Given the description of an element on the screen output the (x, y) to click on. 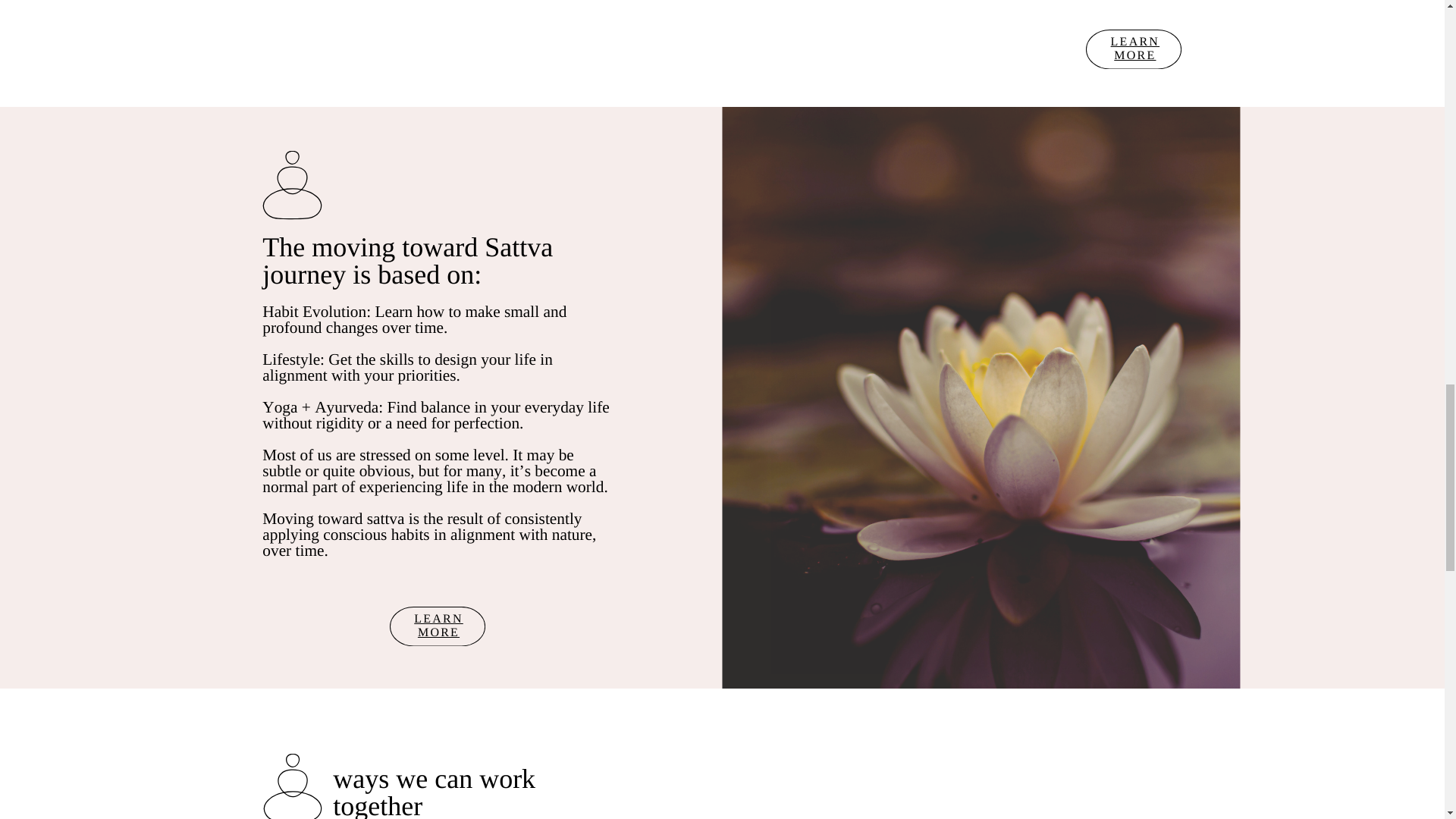
LEARN (1135, 42)
MORE (1134, 55)
LEARN (438, 618)
MORE (438, 632)
